Given the description of an element on the screen output the (x, y) to click on. 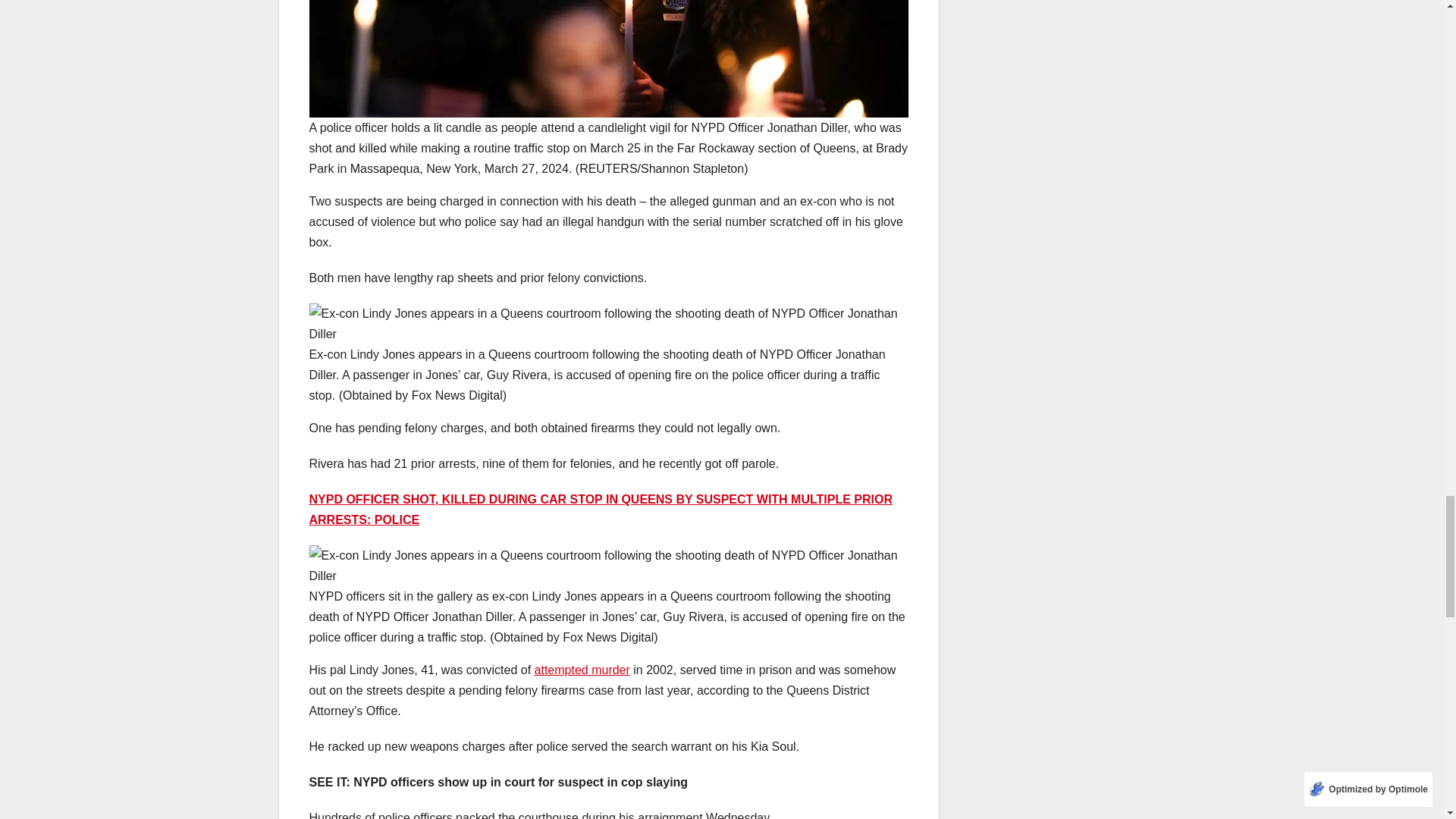
attempted murder (582, 669)
